Given the description of an element on the screen output the (x, y) to click on. 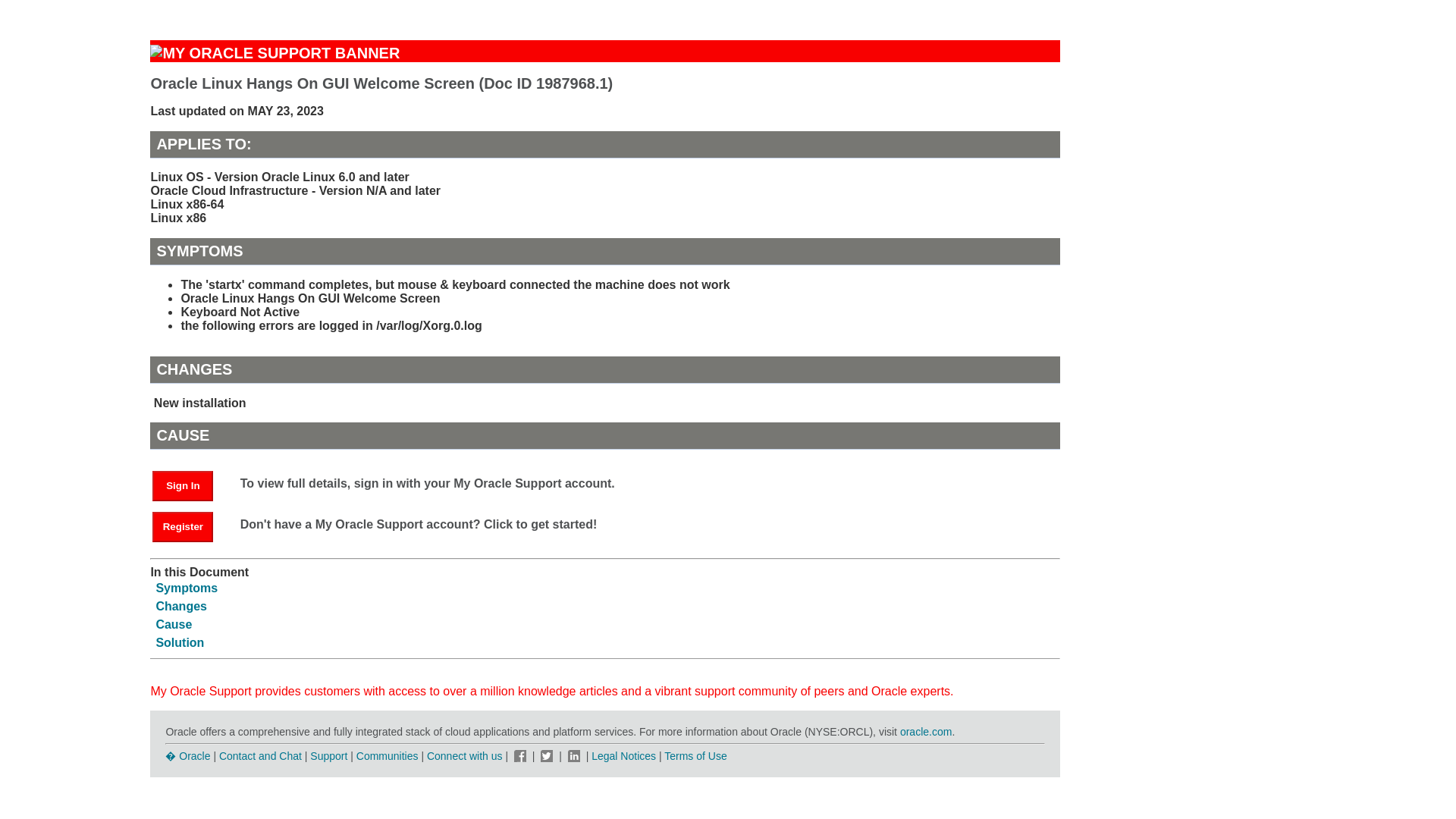
Cause (173, 624)
Register (190, 525)
Register (182, 526)
Connect with us (465, 756)
oracle.com (925, 731)
Terms of Use (694, 756)
Symptoms (185, 587)
Sign In (190, 484)
Legal Notices (623, 756)
Solution (179, 642)
Contact and Chat (260, 756)
Changes (180, 605)
Communities (387, 756)
Sign In (182, 485)
oracle.com (925, 731)
